Given the description of an element on the screen output the (x, y) to click on. 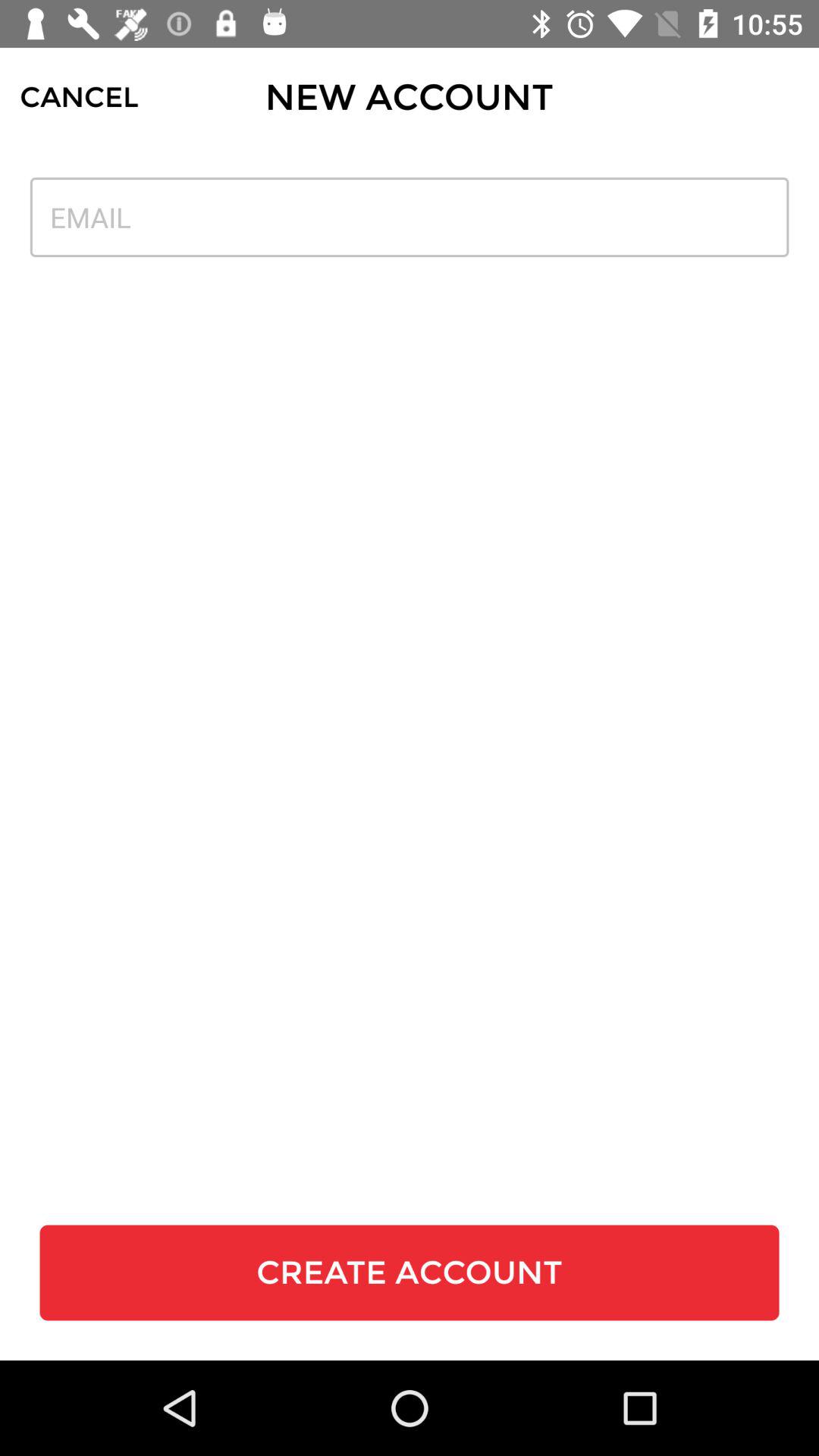
open icon to the left of new account item (78, 97)
